Given the description of an element on the screen output the (x, y) to click on. 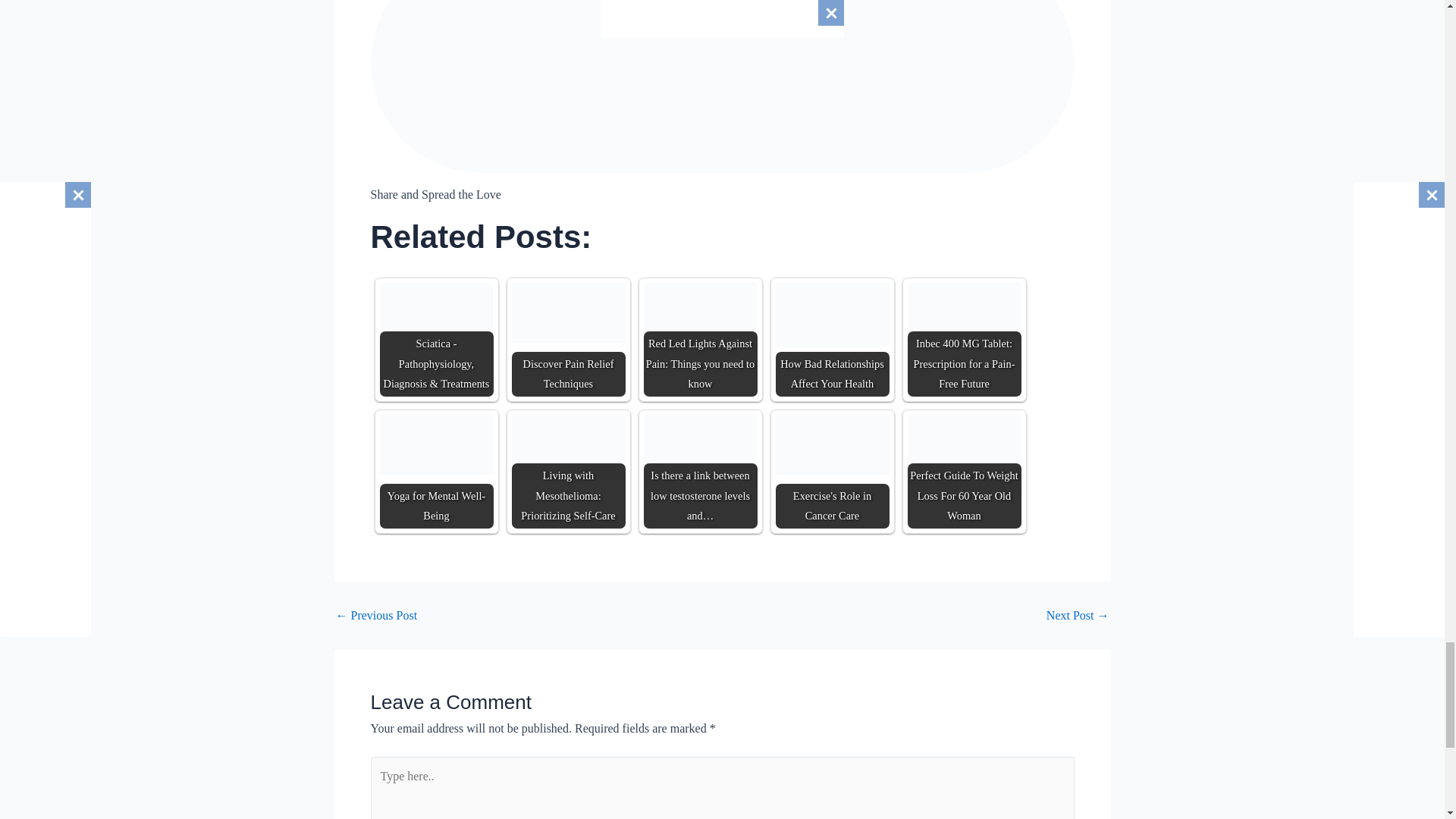
Perfect Guide To Weight Loss For 60 Year Old Woman (963, 471)
Living with Mesothelioma: Prioritizing Self-Care (567, 446)
Exercise's Role in Cancer Care (831, 444)
Living with Mesothelioma: Prioritizing Self-Care (567, 471)
Red Led Lights Against Pain: Things you need to know (700, 339)
Perfect Guide To Weight Loss For 60 Year Old Woman (963, 452)
How Bad Relationships Affect Your Health (831, 339)
Yoga for Mental Well-Being (435, 444)
Red Led Lights Against Pain: Things you need to know (700, 320)
Yoga for Mental Well-Being (435, 471)
